Given the description of an element on the screen output the (x, y) to click on. 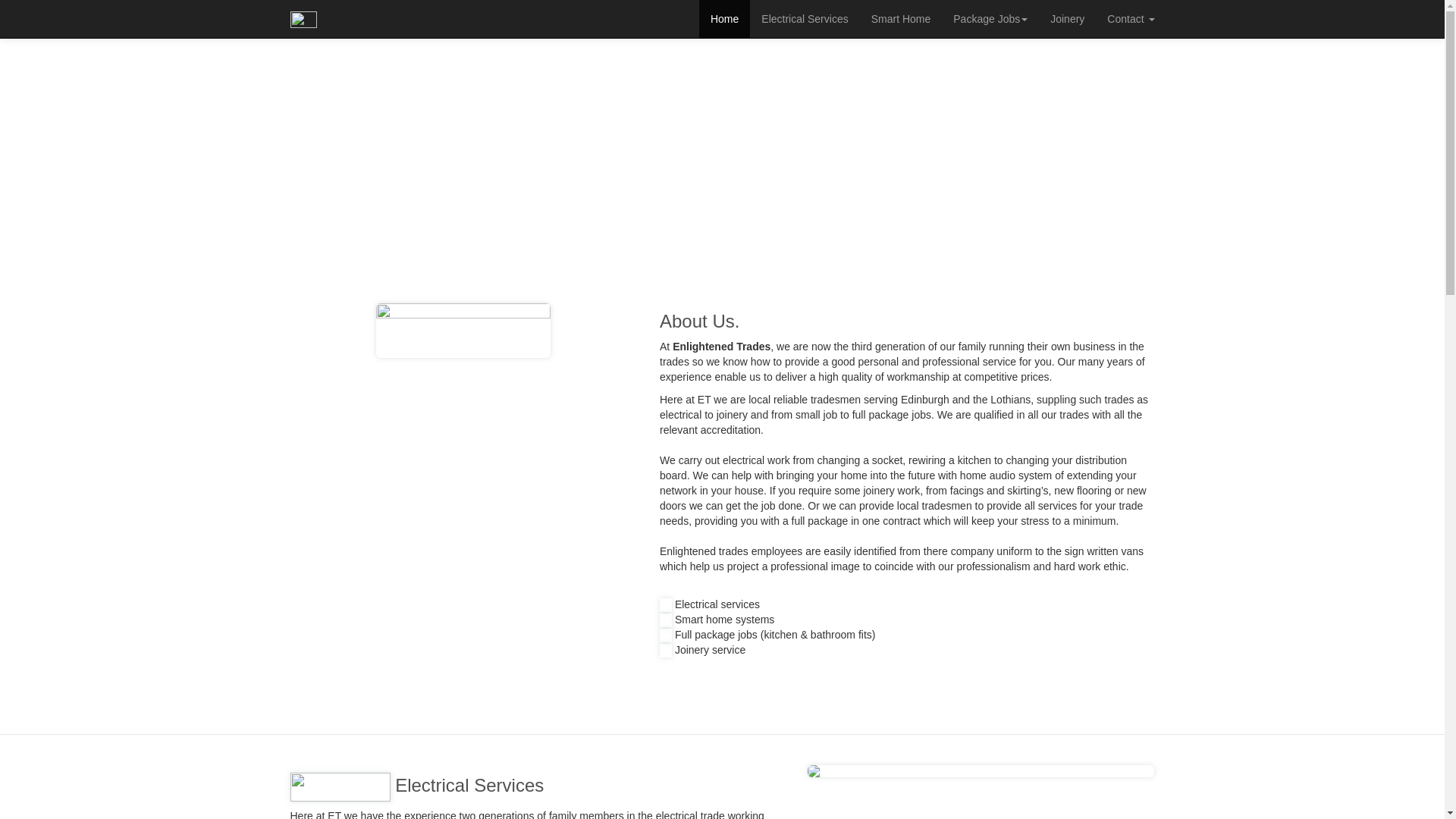
Electrical Services (804, 18)
Package Jobs (990, 18)
Contact (1131, 18)
Joinery (1067, 18)
Home (723, 18)
Smart Home (901, 18)
